Given the description of an element on the screen output the (x, y) to click on. 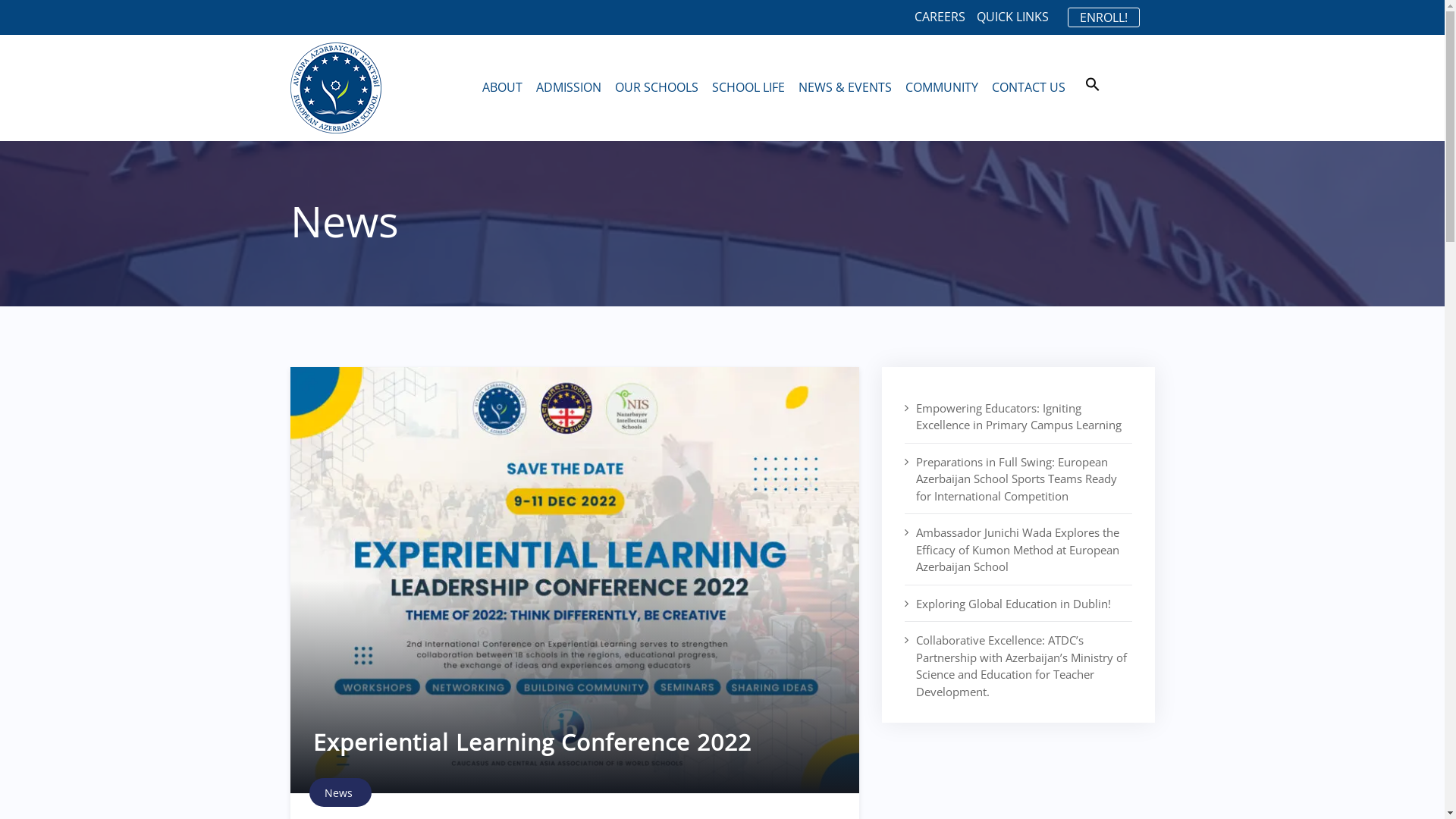
Exploring Global Education in Dublin! Element type: text (1017, 603)
QUICK LINKS Element type: text (1012, 16)
Experiential Learning Conference 2022 Element type: text (531, 741)
SCHOOL LIFE Element type: text (749, 87)
News Element type: text (338, 792)
ENROLL! Element type: text (1103, 17)
CONTACT US Element type: text (1029, 87)
NEWS & EVENTS Element type: text (846, 87)
CAREERS Element type: text (939, 16)
OUR SCHOOLS Element type: text (658, 87)
ABOUT Element type: text (503, 87)
ADMISSION Element type: text (570, 87)
COMMUNITY Element type: text (943, 87)
